Given the description of an element on the screen output the (x, y) to click on. 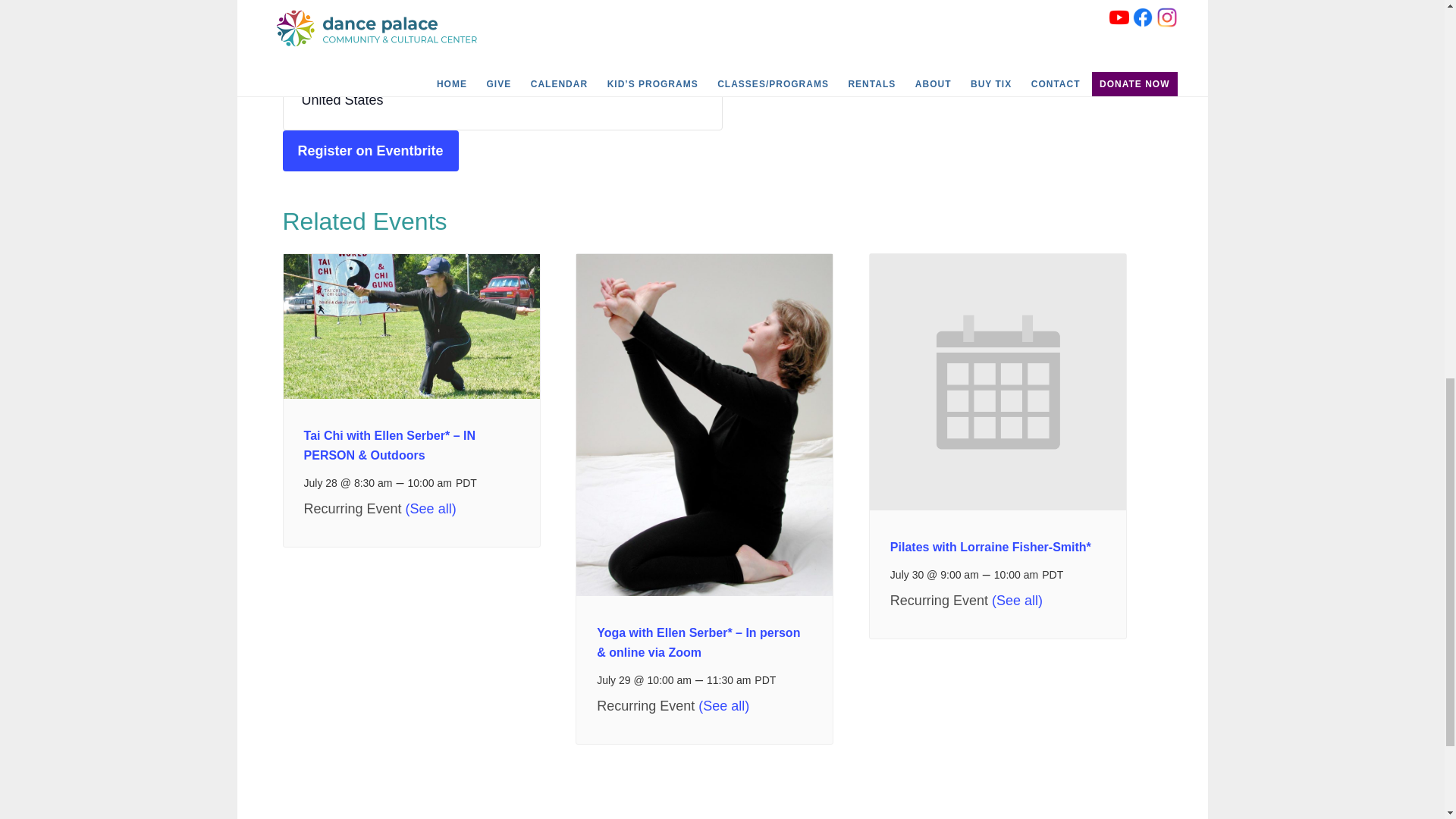
Online via Zoom (351, 38)
